Given the description of an element on the screen output the (x, y) to click on. 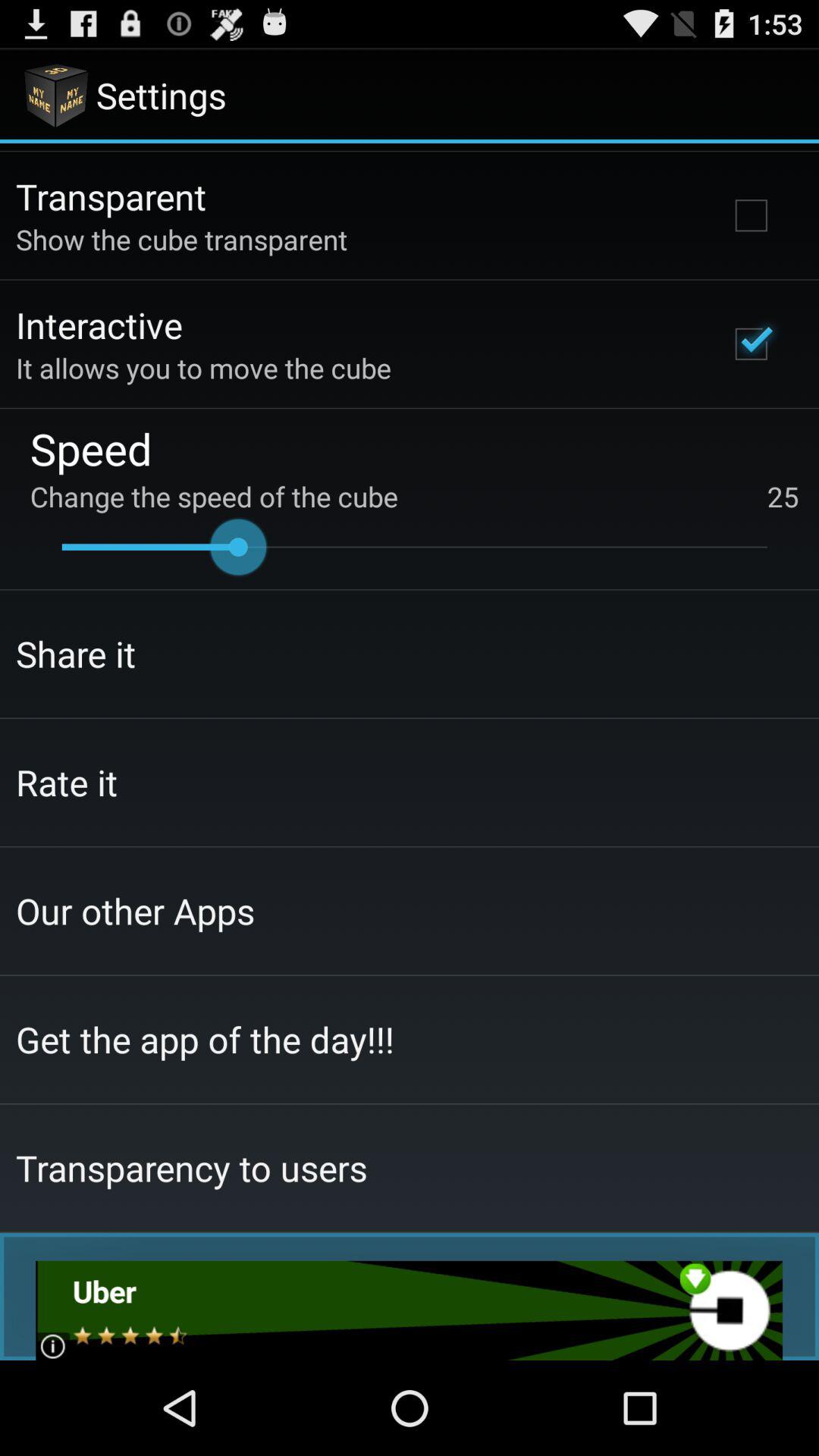
select the icon above the rate it item (75, 653)
